Given the description of an element on the screen output the (x, y) to click on. 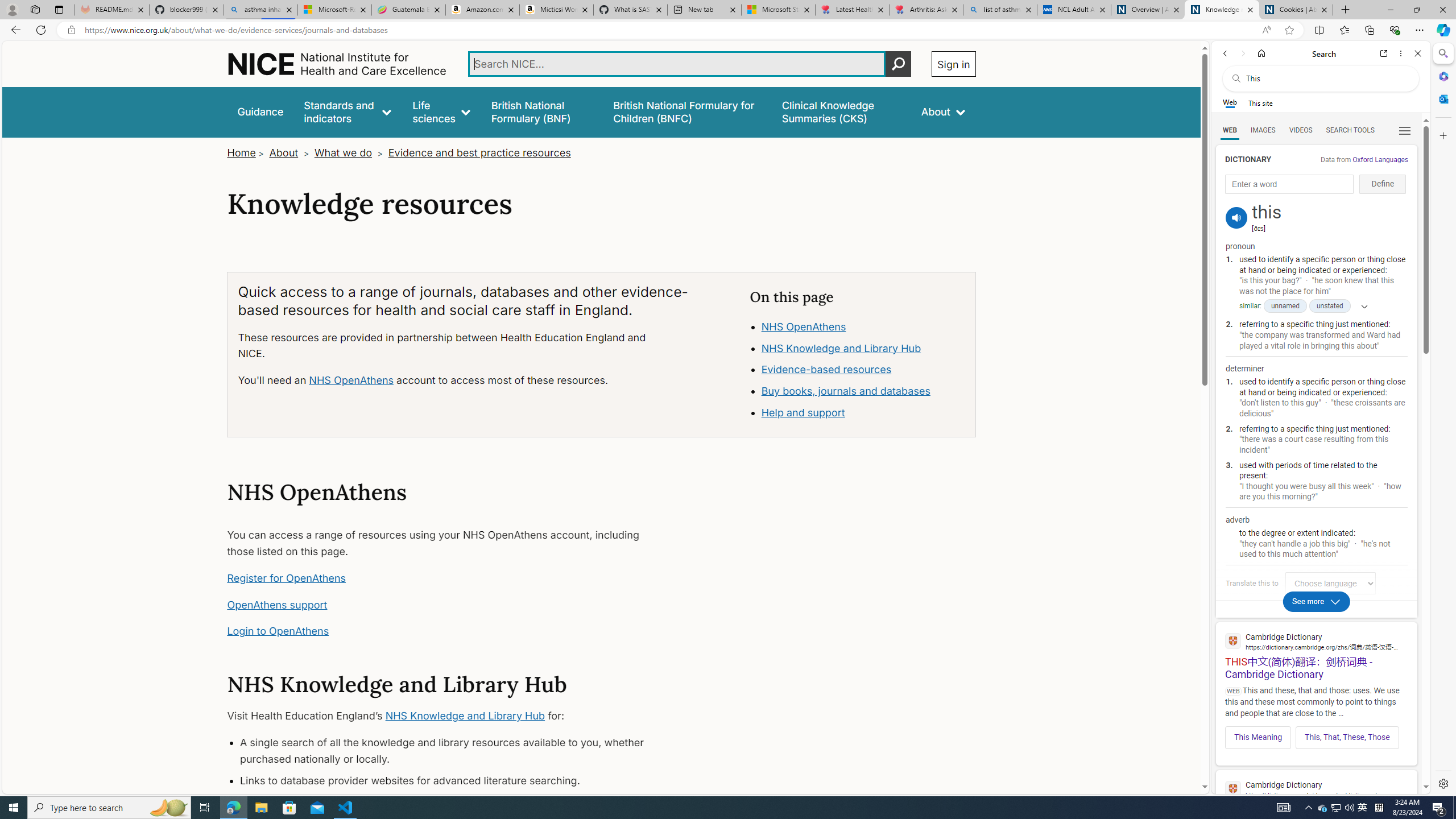
Translate this to Choose language (1329, 582)
WEB   (1230, 130)
Evidence and best practice resources (478, 152)
Buy books, journals and databases (845, 390)
This, That, These, Those (1347, 737)
pronounce (1236, 217)
Perform search (898, 63)
